Given the description of an element on the screen output the (x, y) to click on. 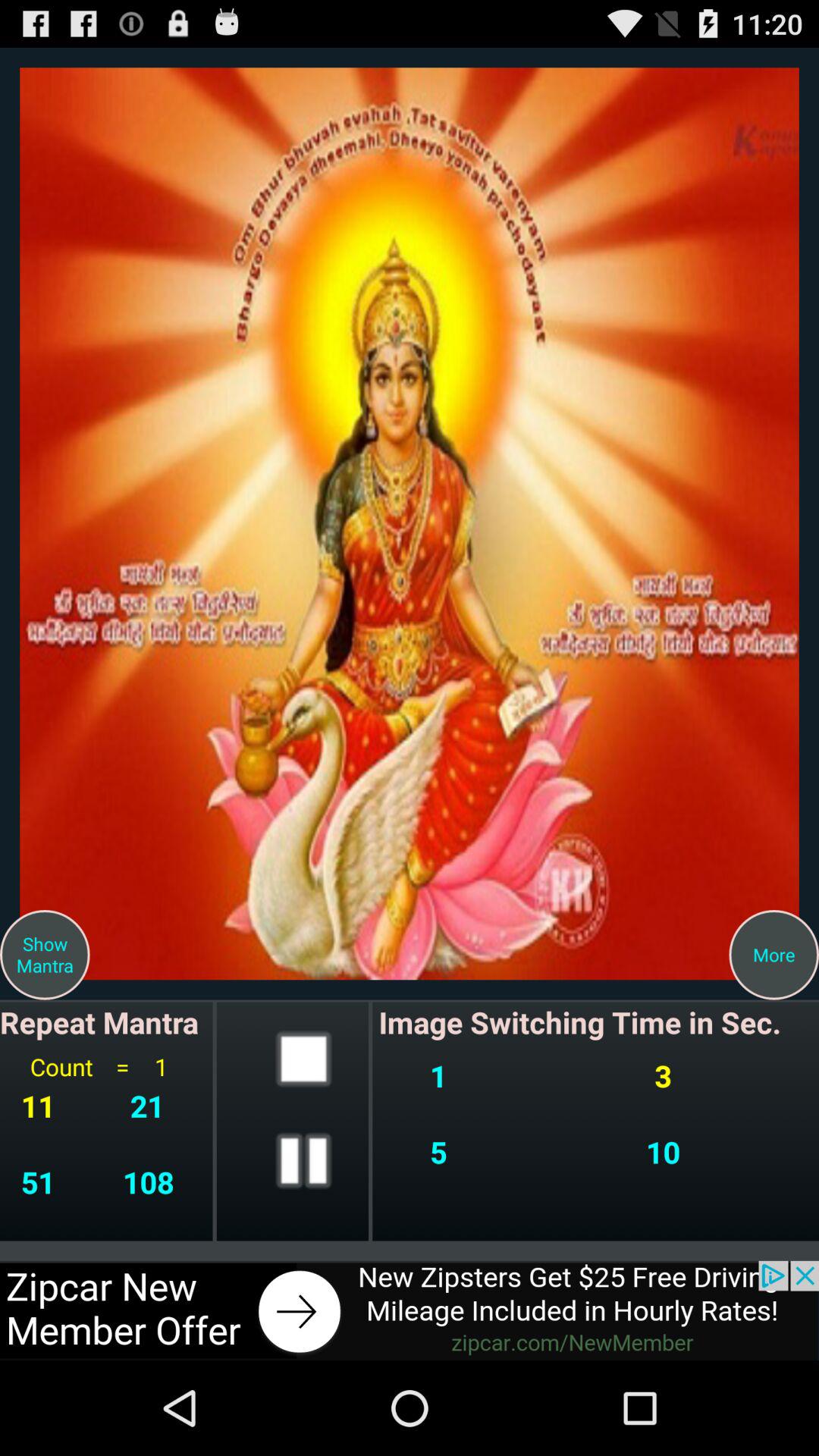
click to view image (409, 523)
